Given the description of an element on the screen output the (x, y) to click on. 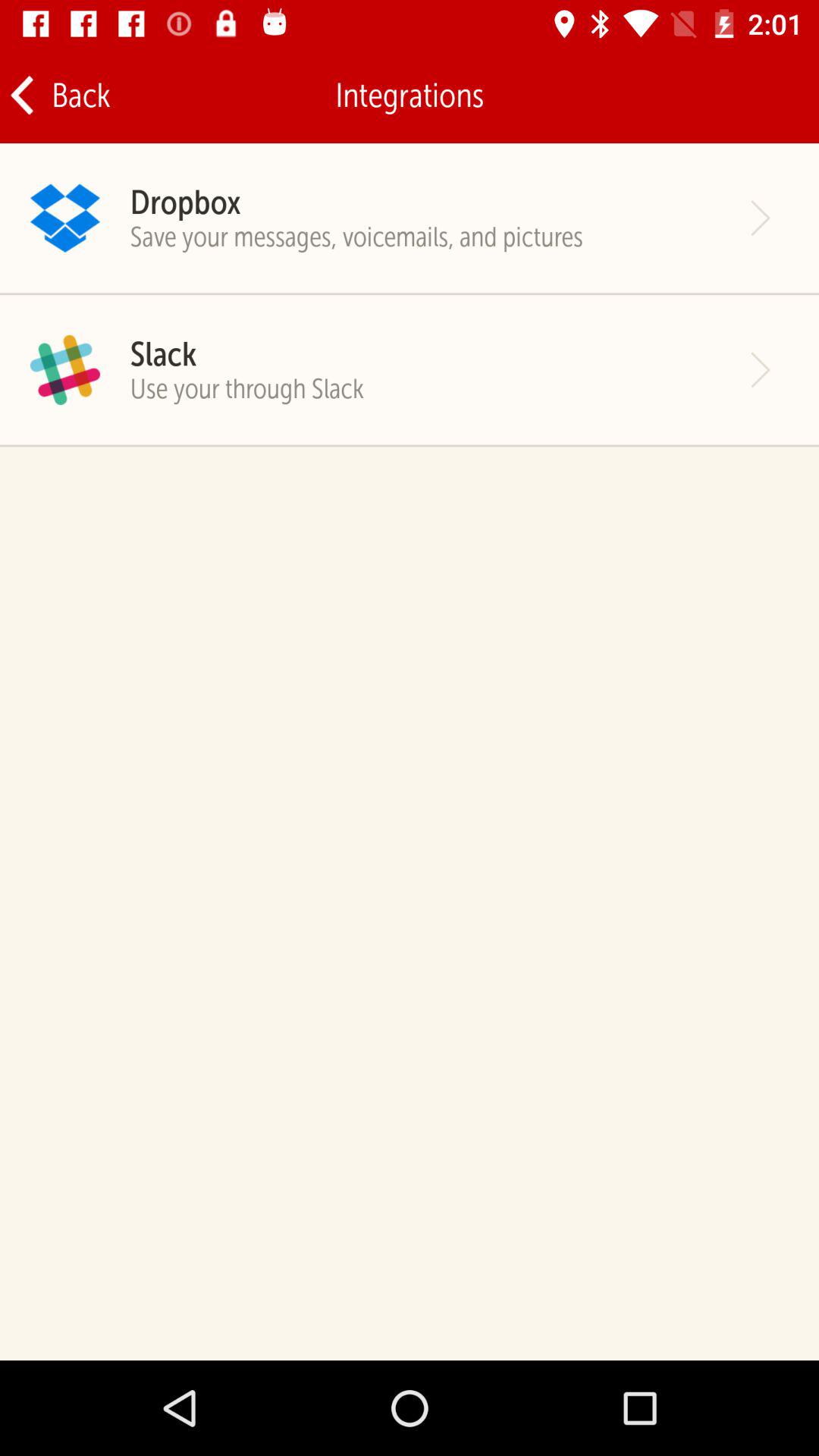
scroll to save your messages (356, 236)
